Given the description of an element on the screen output the (x, y) to click on. 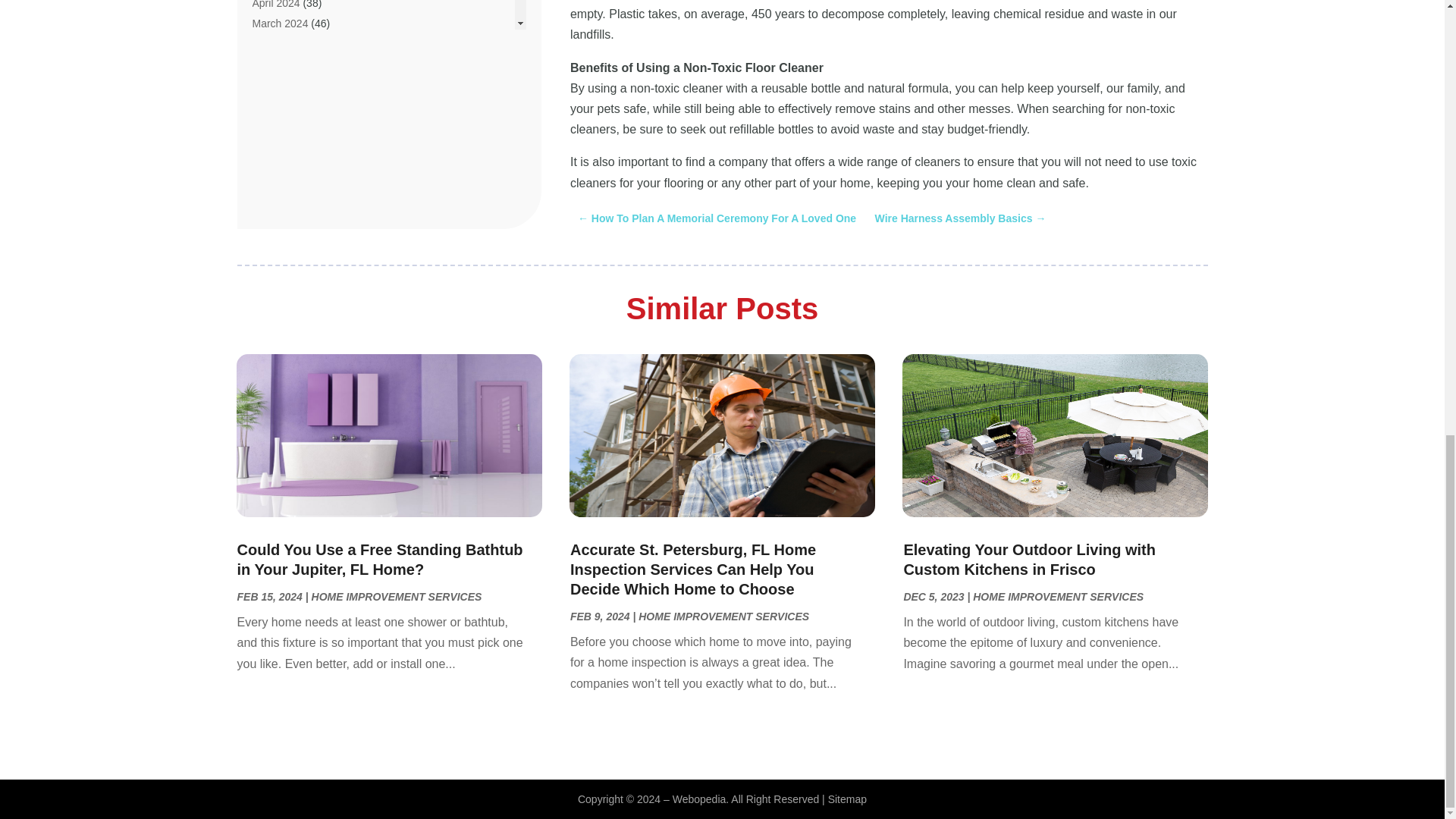
Airport Shuttle Service (303, 130)
Agriculture And Forestry (308, 6)
Aluminum (274, 191)
Animal Removal (290, 274)
Aluminum Supplier (295, 212)
Air Quality Control System (313, 88)
Air Distribution (285, 47)
Animal Hospital (287, 254)
Air Conditioning Repair Service (324, 27)
Aircraft Cargo Loaders (304, 109)
Aluminium (276, 171)
Alarm Systems (287, 150)
Air Duct Cleaning (292, 68)
